Given the description of an element on the screen output the (x, y) to click on. 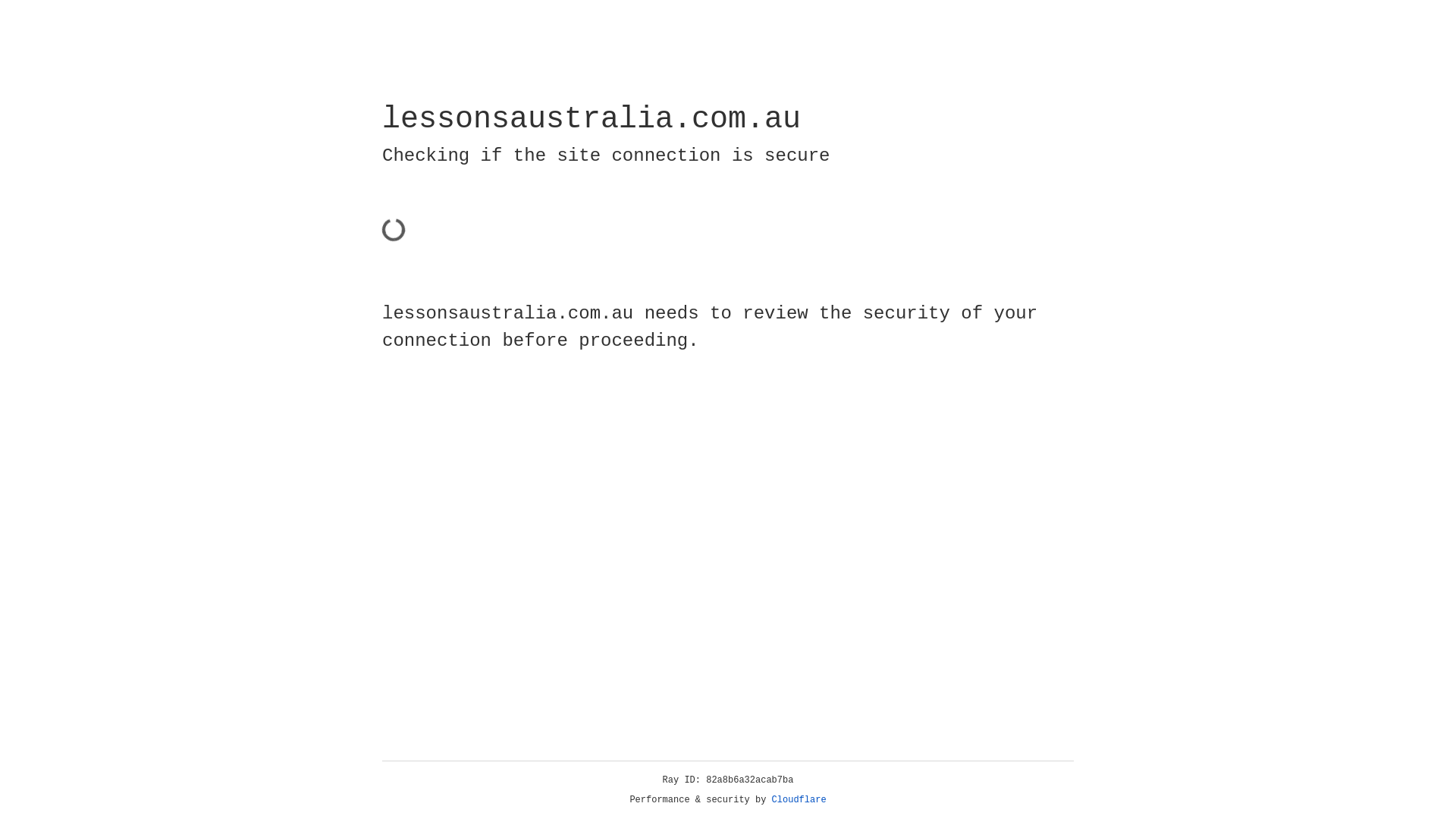
Cloudflare Element type: text (798, 799)
